Given the description of an element on the screen output the (x, y) to click on. 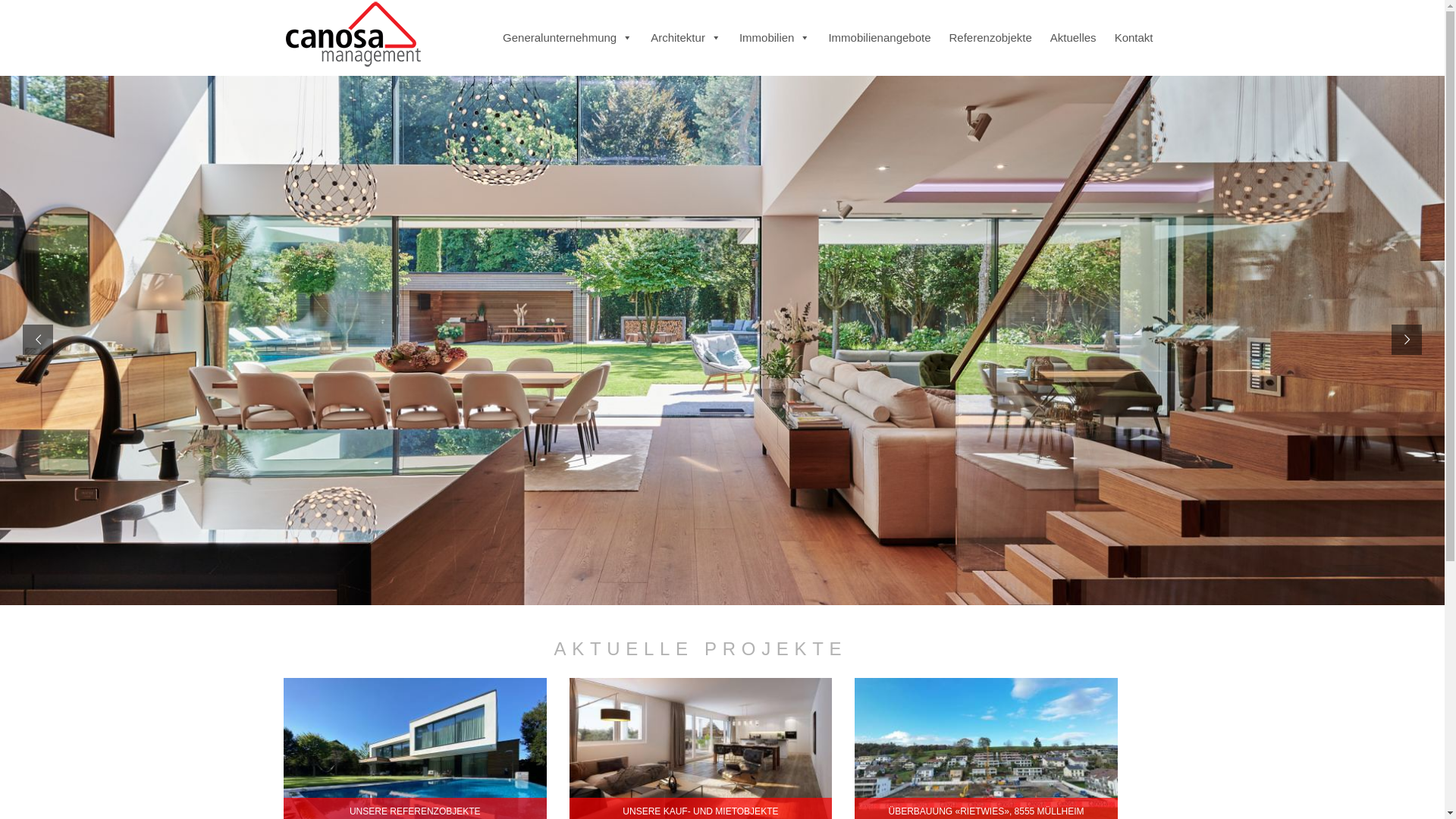
Aktuelles Element type: text (1073, 37)
Immobilien Element type: text (774, 37)
Canosa Immobilien Element type: hover (352, 32)
Architektur Element type: text (685, 37)
Immobilienangebote Element type: text (879, 37)
Skip to content Element type: text (543, 11)
Generalunternehmung Element type: text (567, 37)
Referenzobjekte Element type: text (990, 37)
Kontakt Element type: text (1133, 37)
